Given the description of an element on the screen output the (x, y) to click on. 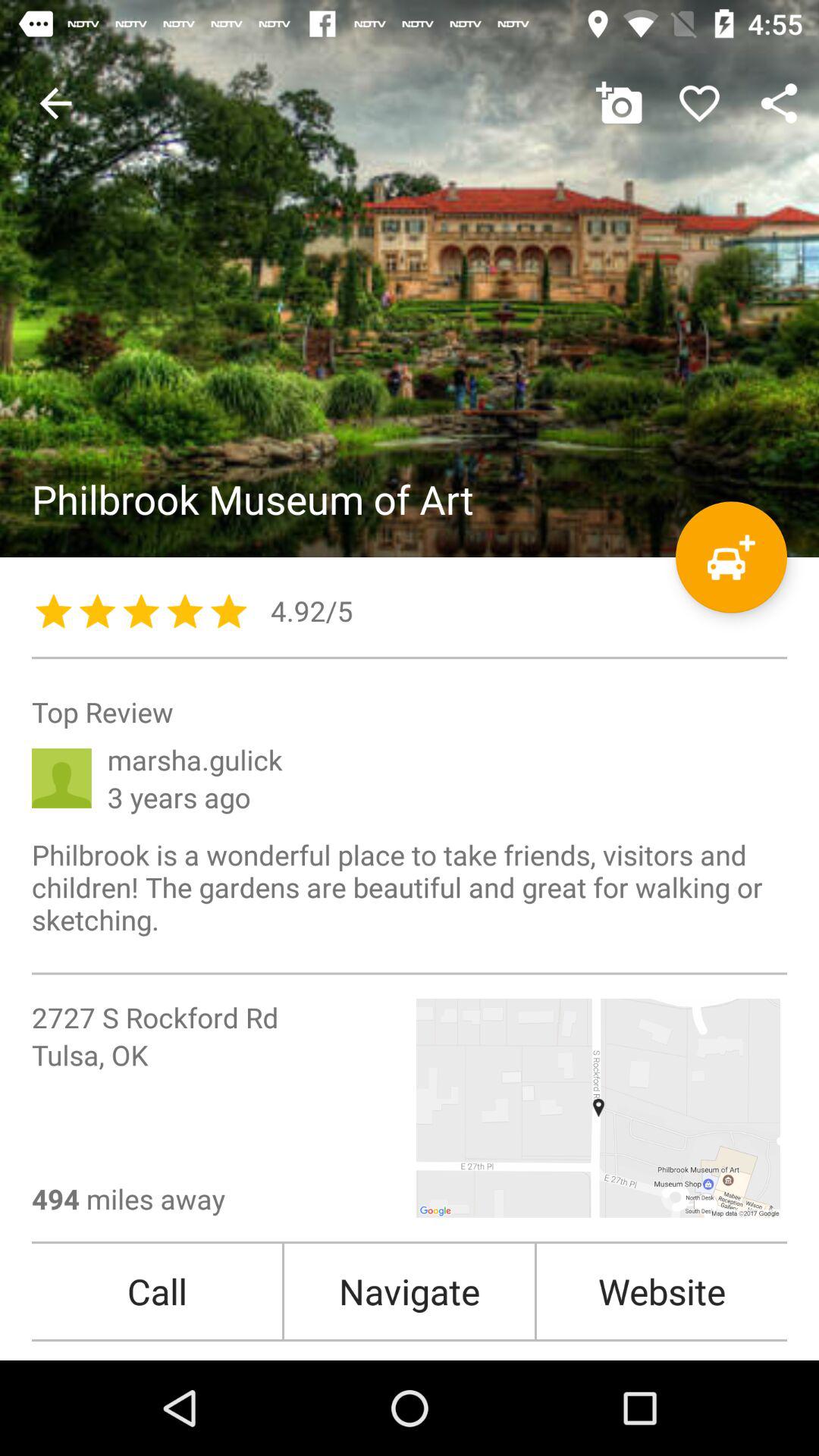
view image (409, 278)
